Given the description of an element on the screen output the (x, y) to click on. 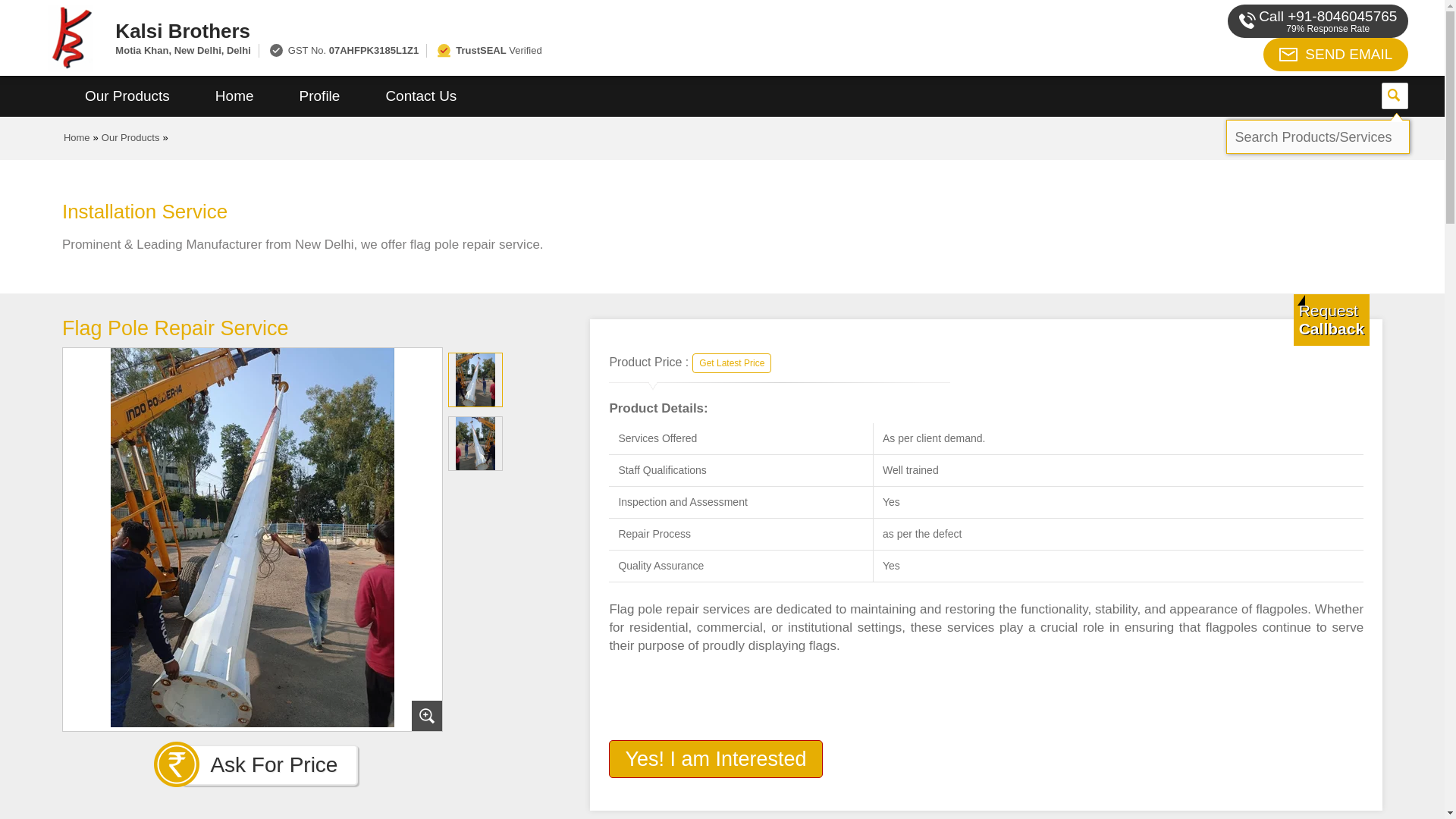
Our Products (130, 137)
Kalsi Brothers (552, 31)
Home (234, 96)
Our Products (127, 96)
Get a Call from us (1332, 319)
Profile (319, 96)
Home (77, 137)
Contact Us (420, 96)
